Given the description of an element on the screen output the (x, y) to click on. 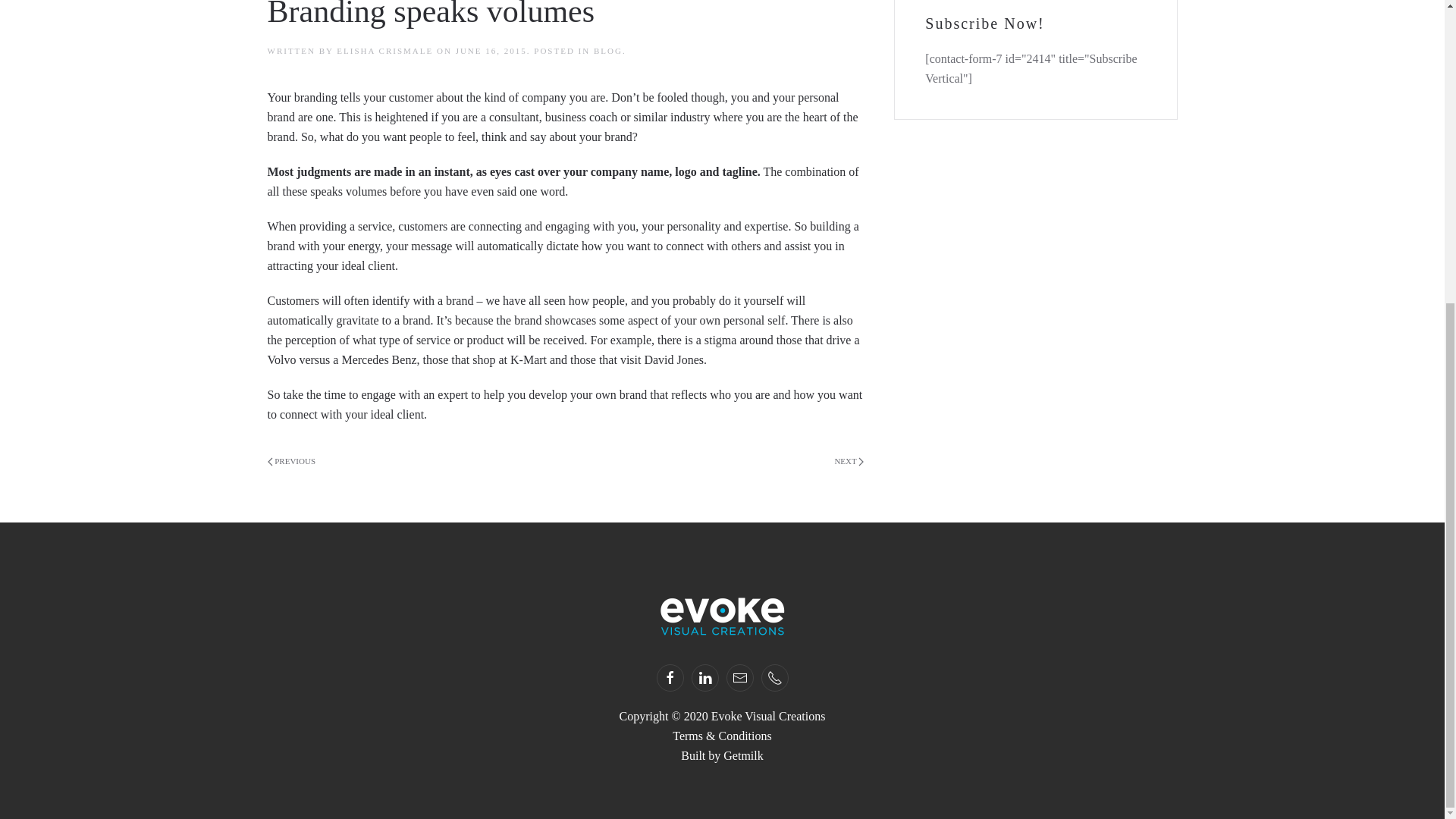
BLOG (608, 50)
PREVIOUS (290, 462)
ELISHA CRISMALE (384, 50)
NEXT (848, 462)
